Given the description of an element on the screen output the (x, y) to click on. 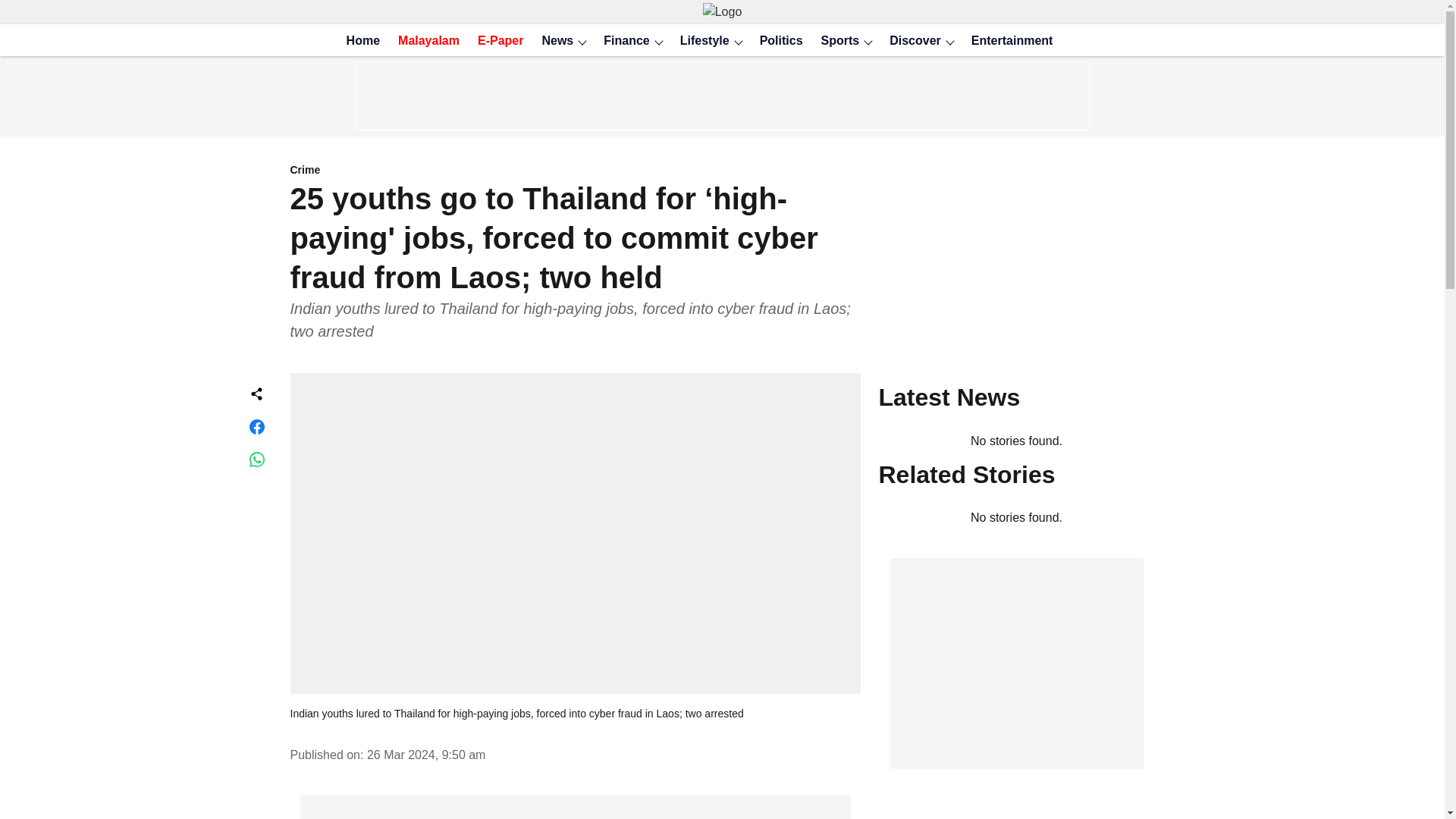
Sports (836, 40)
Politics (777, 40)
Home (358, 40)
Finance (621, 40)
News (552, 40)
Entertainment (1007, 40)
Lifestyle (700, 40)
2024-03-26 09:50 (426, 754)
Crime (574, 170)
E-Paper (495, 40)
